Given the description of an element on the screen output the (x, y) to click on. 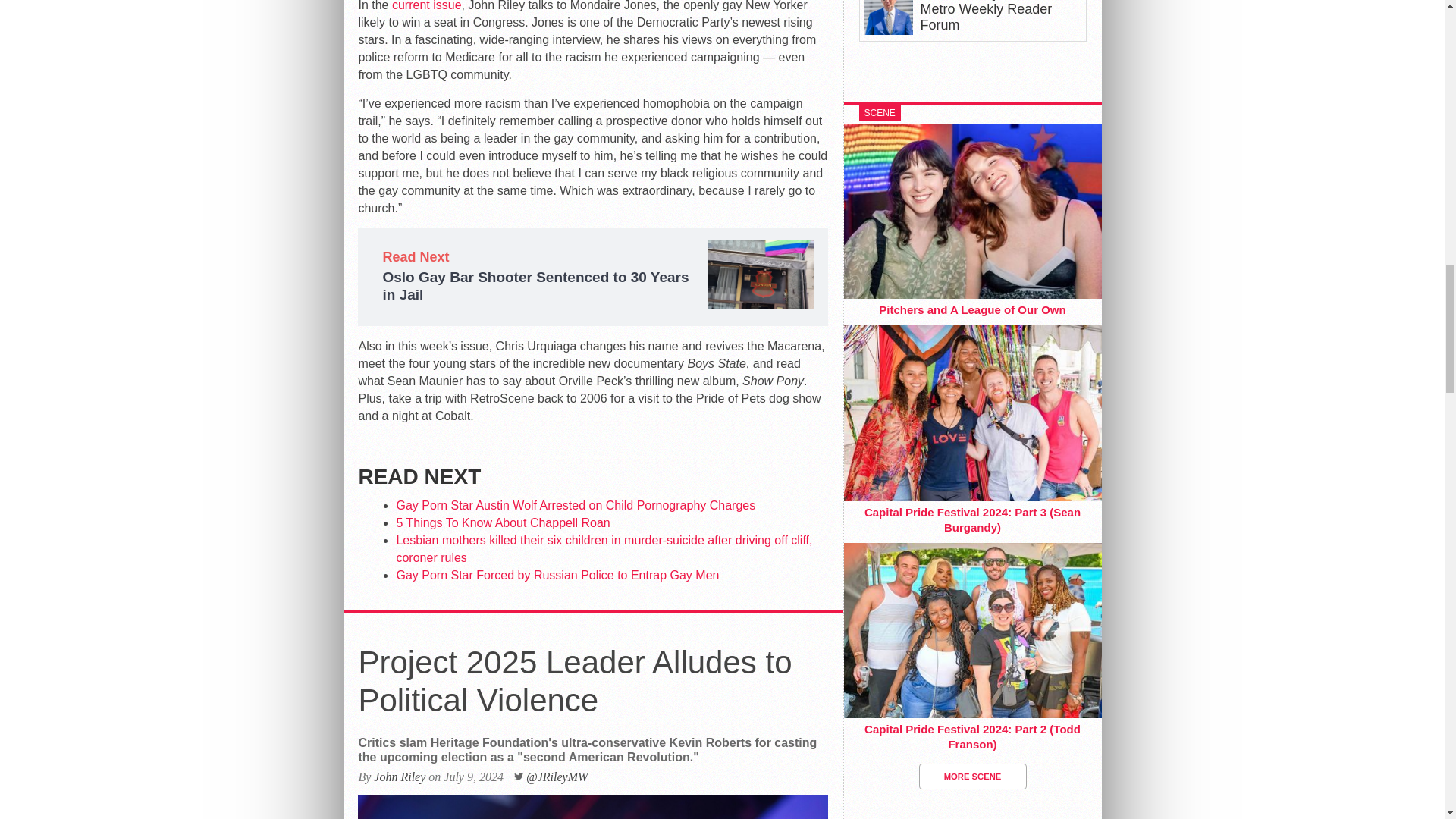
Posts by John Riley (399, 776)
